Given the description of an element on the screen output the (x, y) to click on. 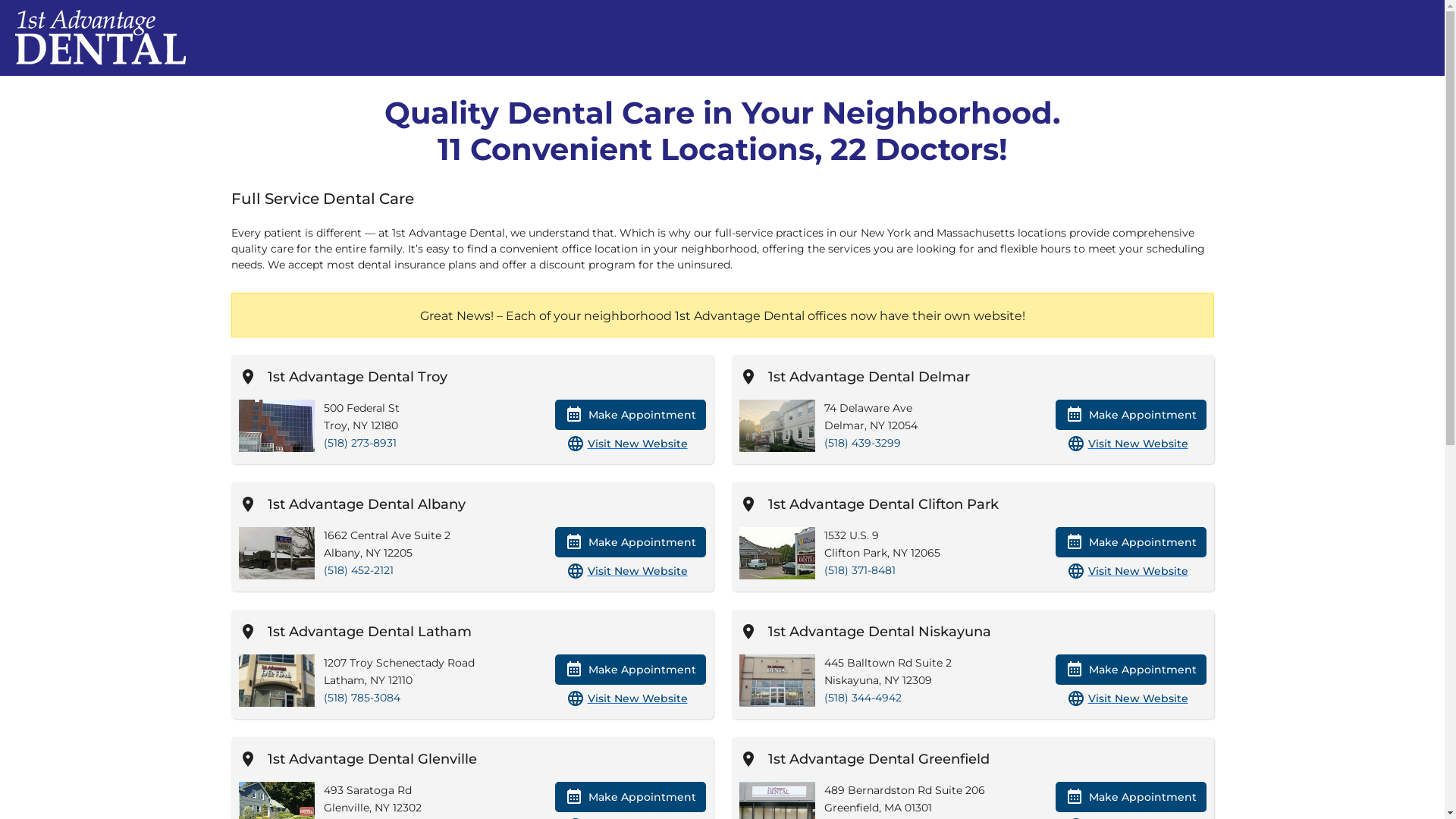
Visit New Website Element type: text (1135, 570)
(518) 344-4942 Element type: text (861, 697)
Make Appointment Element type: text (1130, 669)
(518) 439-3299 Element type: text (861, 442)
(518) 452-2121 Element type: text (357, 570)
Make Appointment Element type: text (1130, 542)
Visit New Website Element type: text (1135, 443)
Make Appointment Element type: text (630, 542)
Visit New Website Element type: text (1135, 698)
(518) 273-8931 Element type: text (359, 442)
Visit New Website Element type: text (635, 443)
Visit New Website Element type: text (635, 698)
(518) 785-3084 Element type: text (361, 697)
(518) 371-8481 Element type: text (858, 570)
Make Appointment Element type: text (630, 414)
Make Appointment Element type: text (630, 796)
Make Appointment Element type: text (1130, 414)
Make Appointment Element type: text (630, 669)
Make Appointment Element type: text (1130, 796)
Visit New Website Element type: text (635, 570)
